Given the description of an element on the screen output the (x, y) to click on. 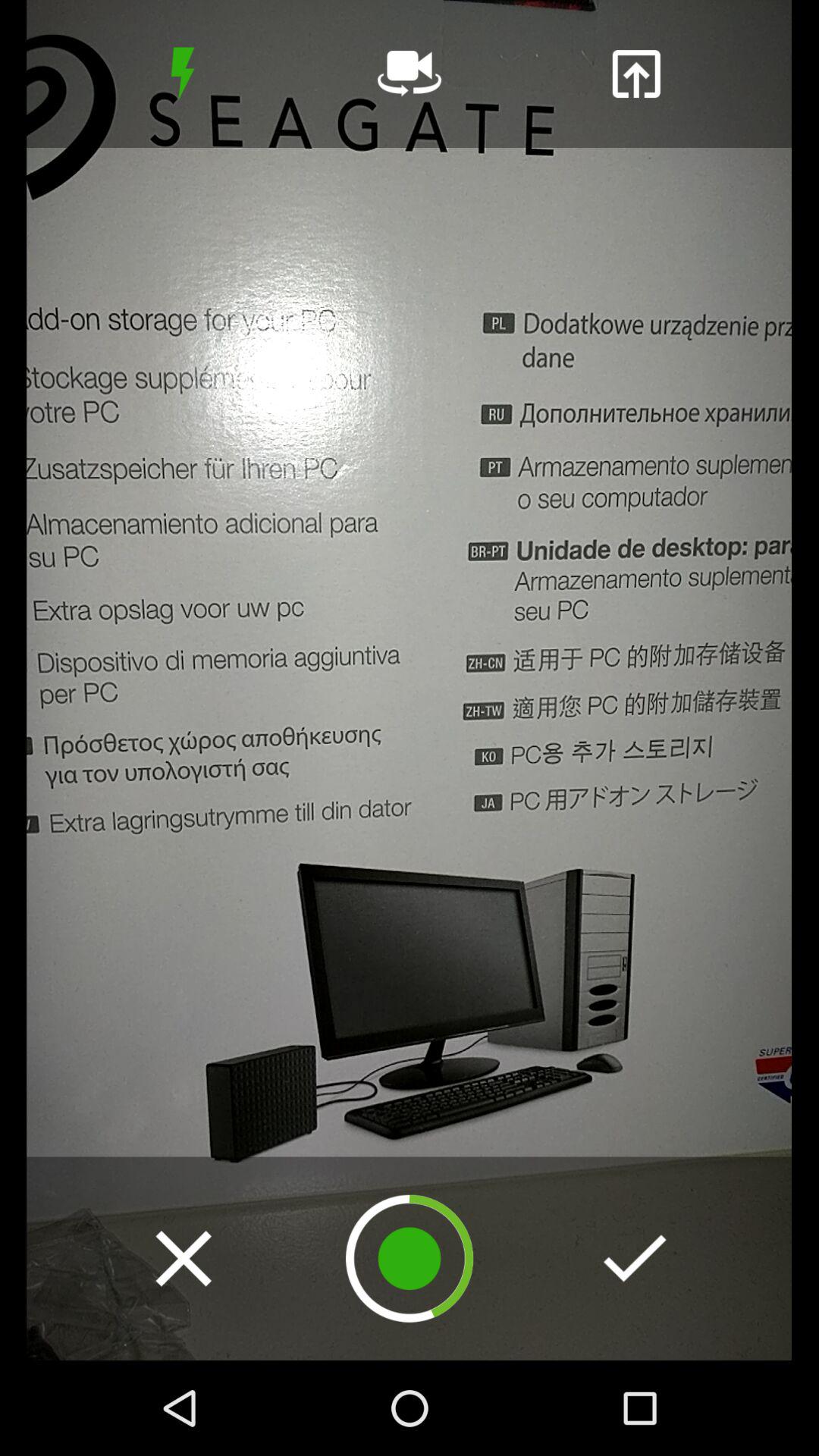
turn off the item at the top right corner (635, 73)
